Given the description of an element on the screen output the (x, y) to click on. 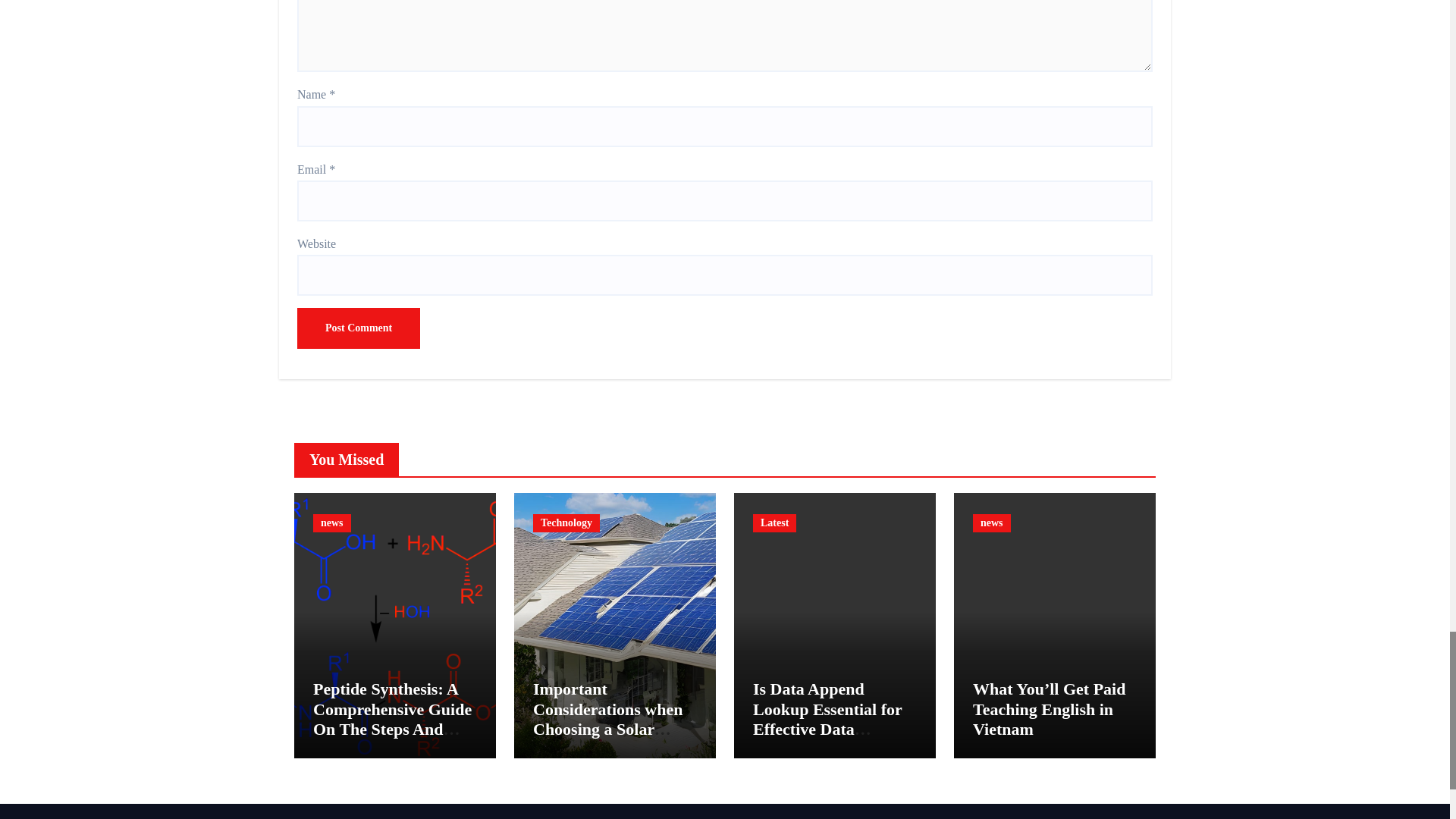
Post Comment (358, 327)
